Given the description of an element on the screen output the (x, y) to click on. 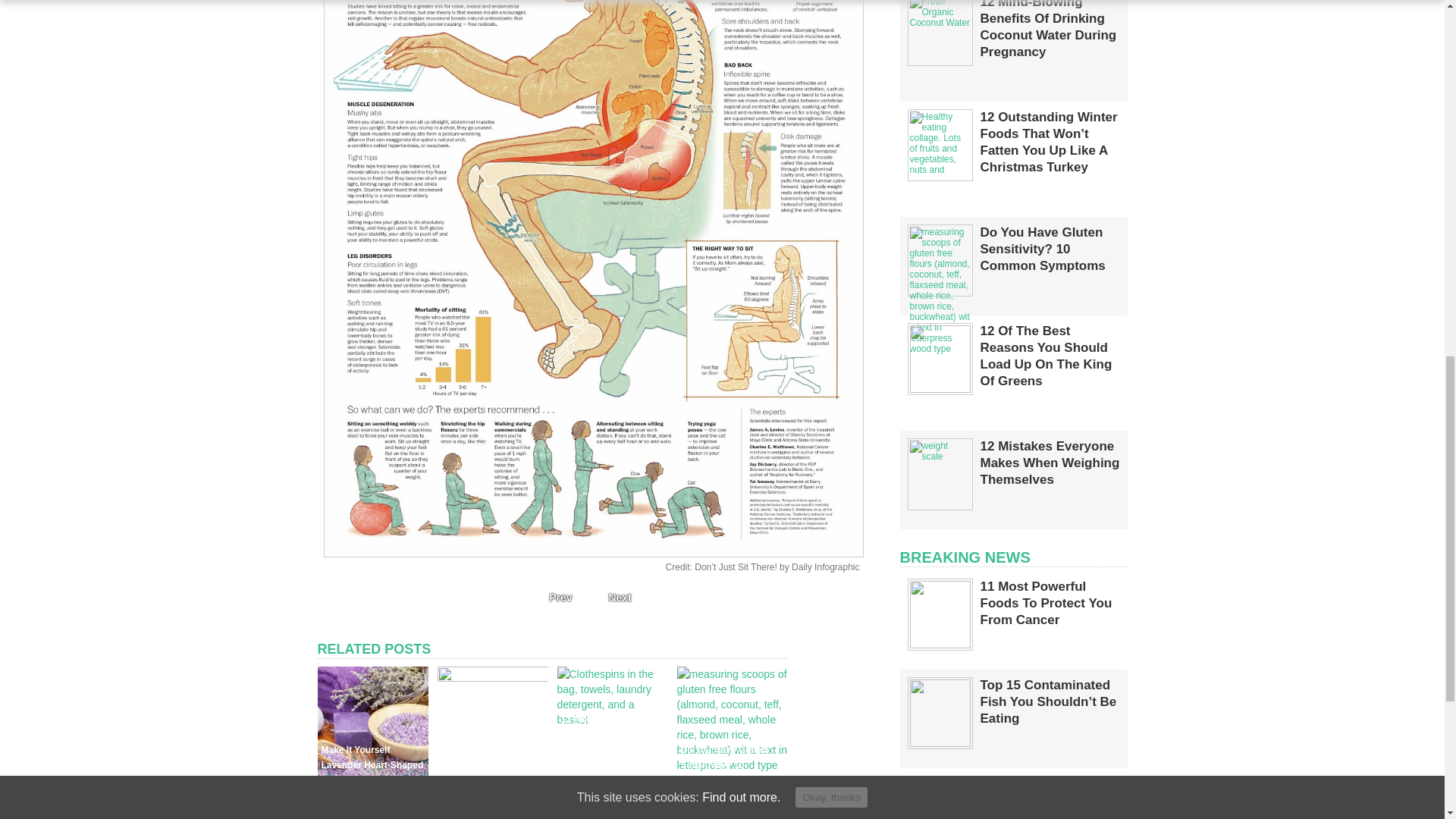
Make It Yourself Lavender Heart-Shaped Bath Bombs! (372, 764)
Prev (555, 597)
Next (622, 597)
